Given the description of an element on the screen output the (x, y) to click on. 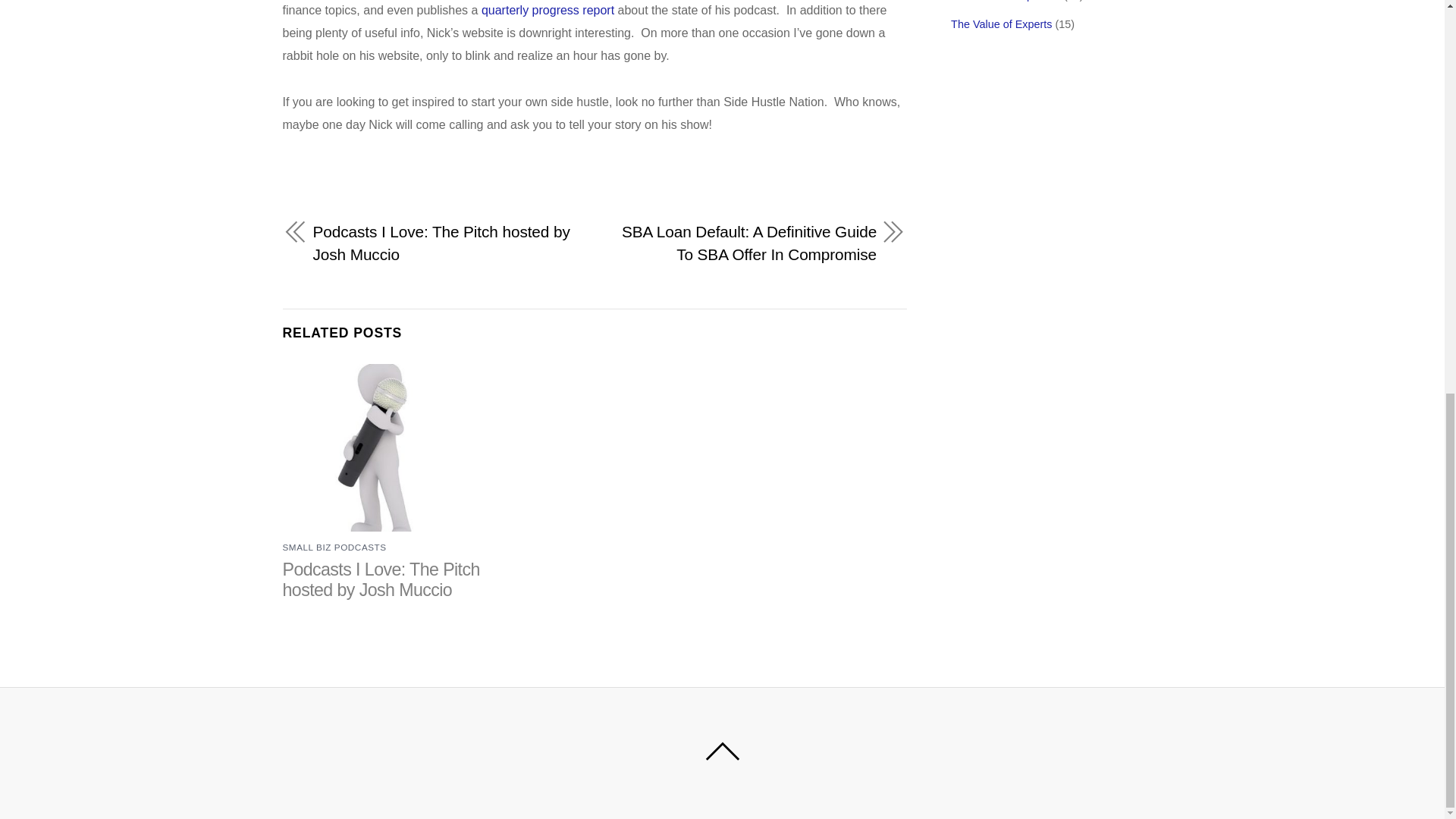
quarterly progress report (547, 10)
Podcasts I Love: The Pitch hosted by Josh Muccio (380, 579)
Podcasts I Love: The Pitch hosted by Josh Muccio (444, 242)
Podcasts I Love: The Pitch hosted by Josh Muccio (380, 579)
Random But Important (1005, 0)
The Value of Experts (1000, 24)
SMALL BIZ PODCASTS (333, 547)
